Given the description of an element on the screen output the (x, y) to click on. 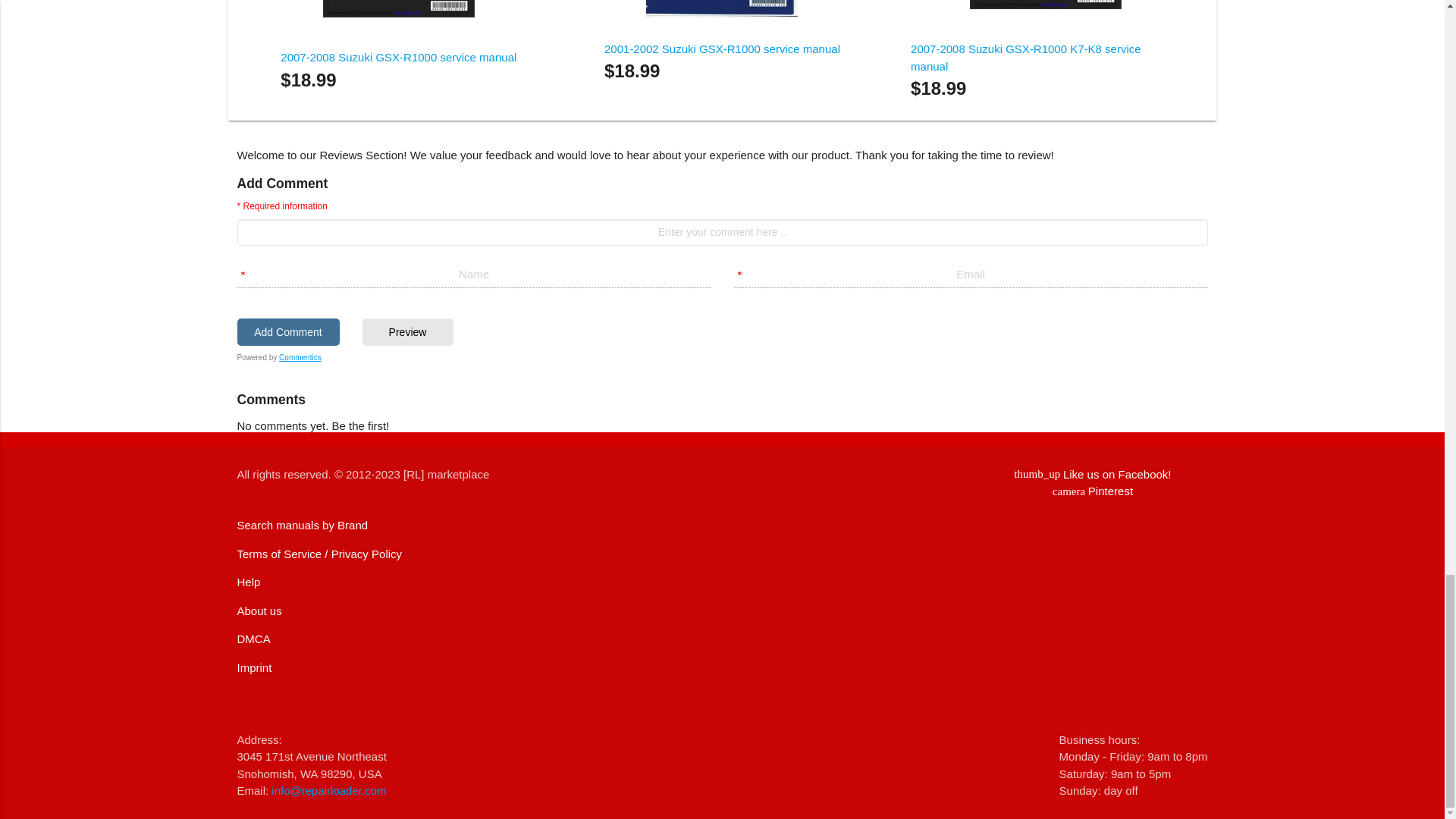
Add Comment (1091, 491)
Commentics (287, 331)
Search manuals by Brand (300, 356)
2007-2008 Suzuki GSX-R1000 service manual (301, 524)
2007-2008 Suzuki GSX-R1000 K7-K8 service manual (398, 56)
2001-2002 Suzuki GSX-R1000 service manual (1026, 57)
Preview (722, 48)
